Given the description of an element on the screen output the (x, y) to click on. 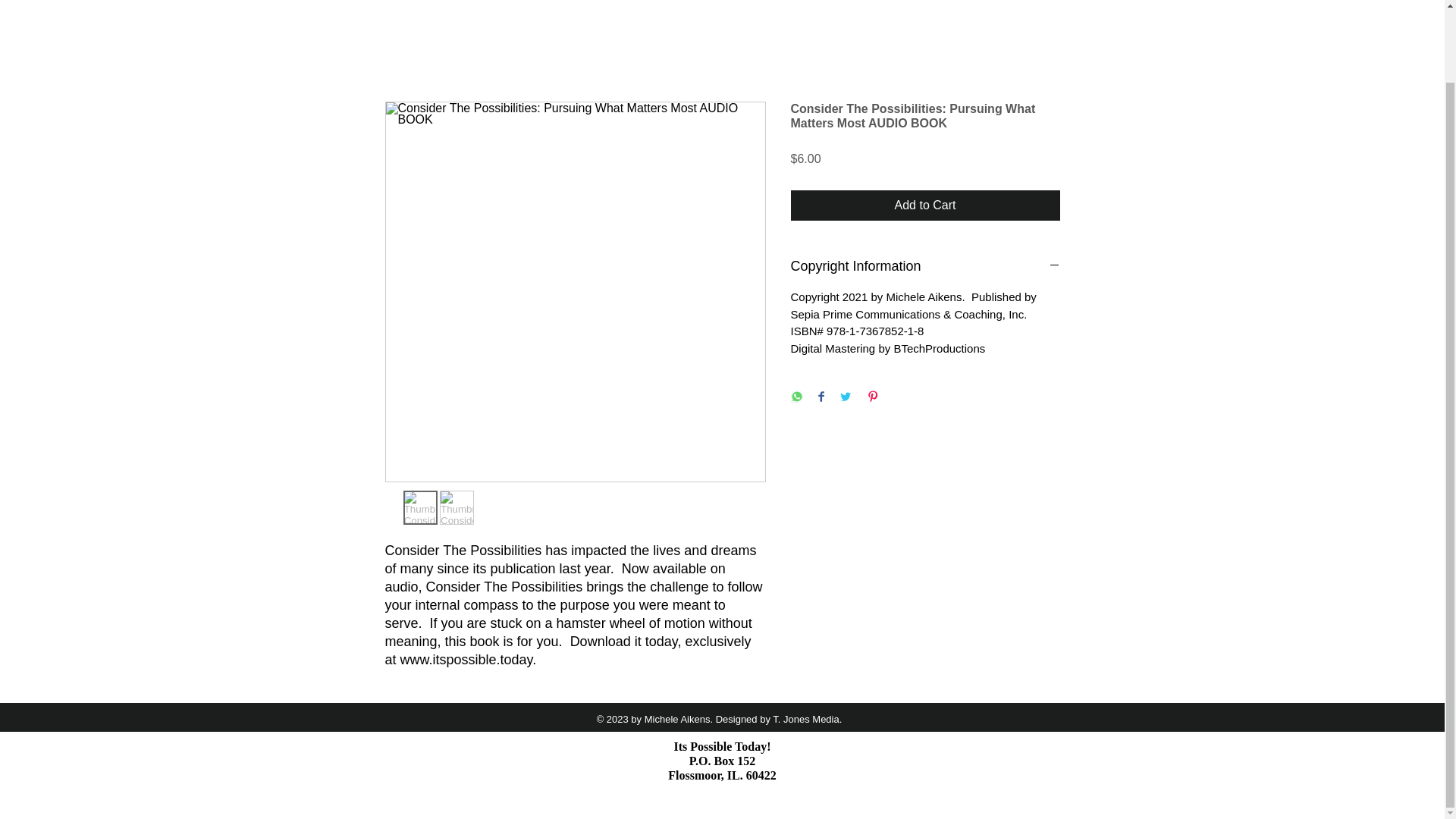
Add to Cart (924, 205)
Copyright Information (924, 266)
Designed by T. Jones Media. (779, 718)
